Given the description of an element on the screen output the (x, y) to click on. 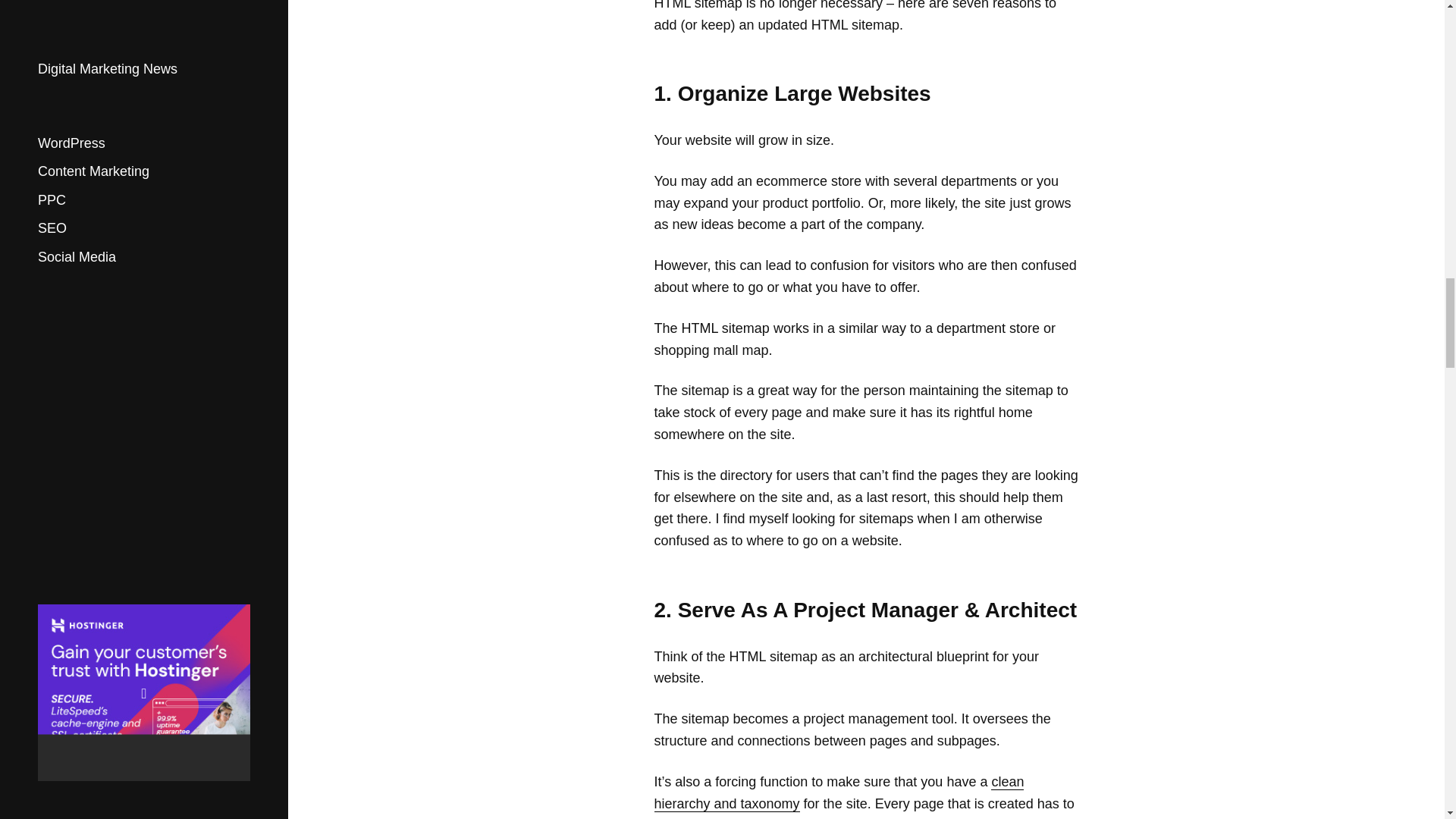
clean hierarchy and taxonomy (838, 792)
